Given the description of an element on the screen output the (x, y) to click on. 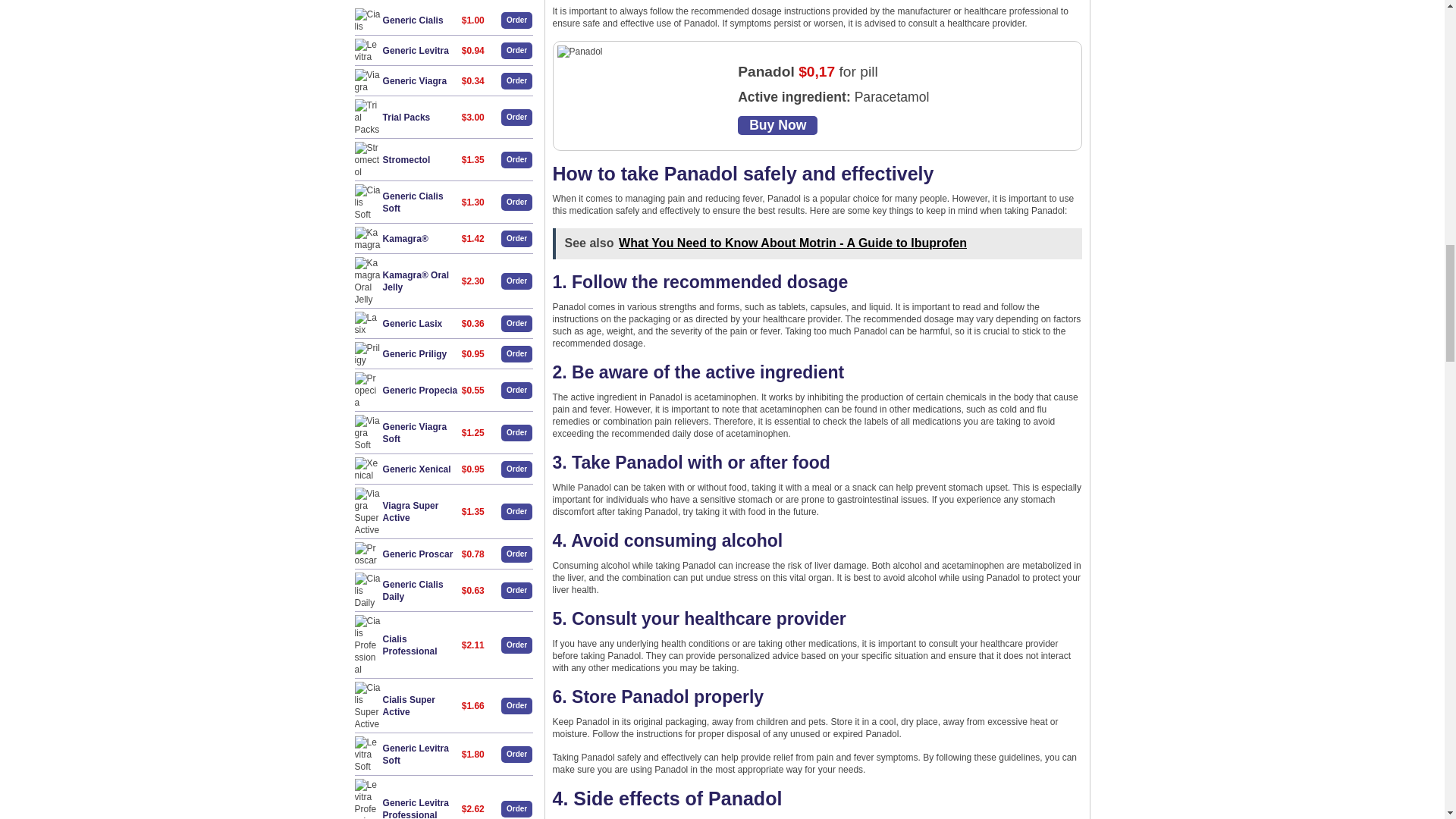
Buy Now (777, 125)
